Given the description of an element on the screen output the (x, y) to click on. 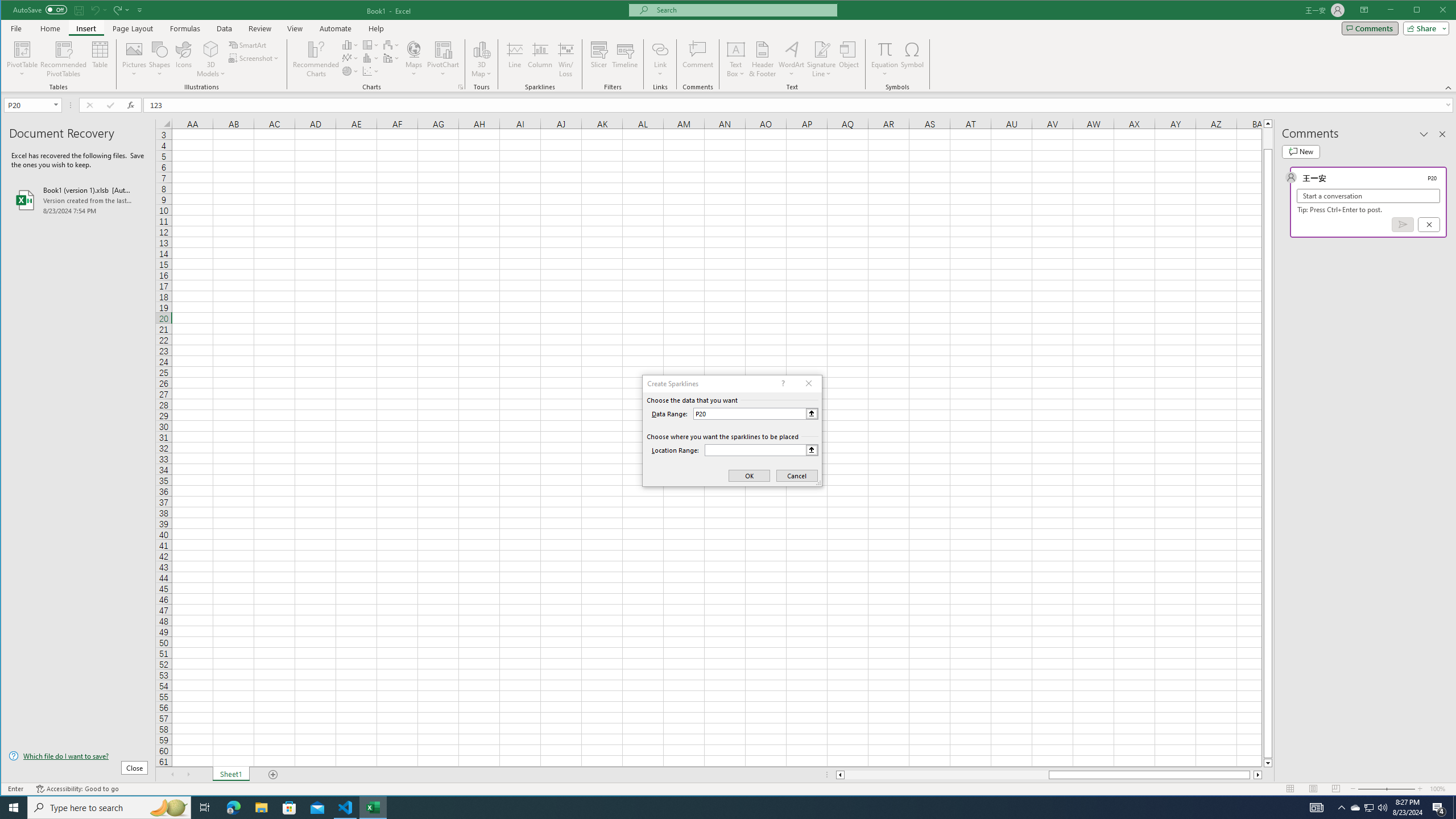
Maps (413, 59)
